Given the description of an element on the screen output the (x, y) to click on. 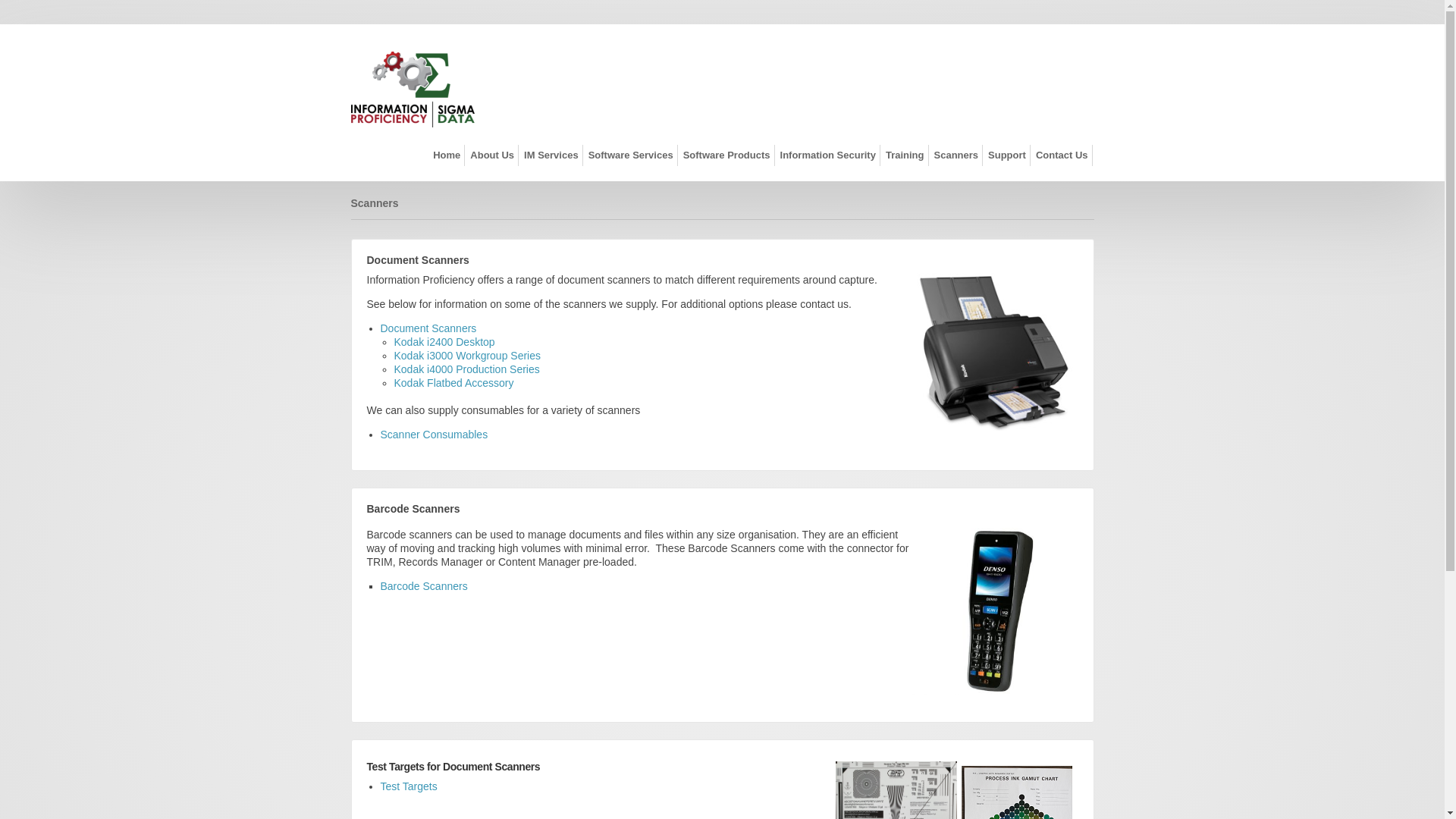
Kodak i4000 Production Series Element type: text (466, 369)
Contact Us Element type: text (1062, 155)
Scanners Element type: text (955, 155)
Software Services Element type: text (630, 155)
Sigma Data Element type: hover (411, 88)
About Us Element type: text (492, 155)
Test Targets Element type: text (408, 786)
Home Element type: text (446, 155)
Support Element type: text (1007, 155)
Software Products Element type: text (727, 155)
Kodak i2400 Desktop Element type: text (444, 341)
Kodak i3000 Workgroup Series Element type: text (467, 355)
Scanner Consumables Element type: text (434, 434)
Document Scanners Element type: text (428, 328)
Training Element type: text (904, 155)
IM Services Element type: text (551, 155)
Kodak Flatbed Accessory Element type: text (454, 382)
Information Security Element type: text (828, 155)
Barcode Scanners Element type: text (423, 586)
Scanners Element type: text (374, 203)
